Given the description of an element on the screen output the (x, y) to click on. 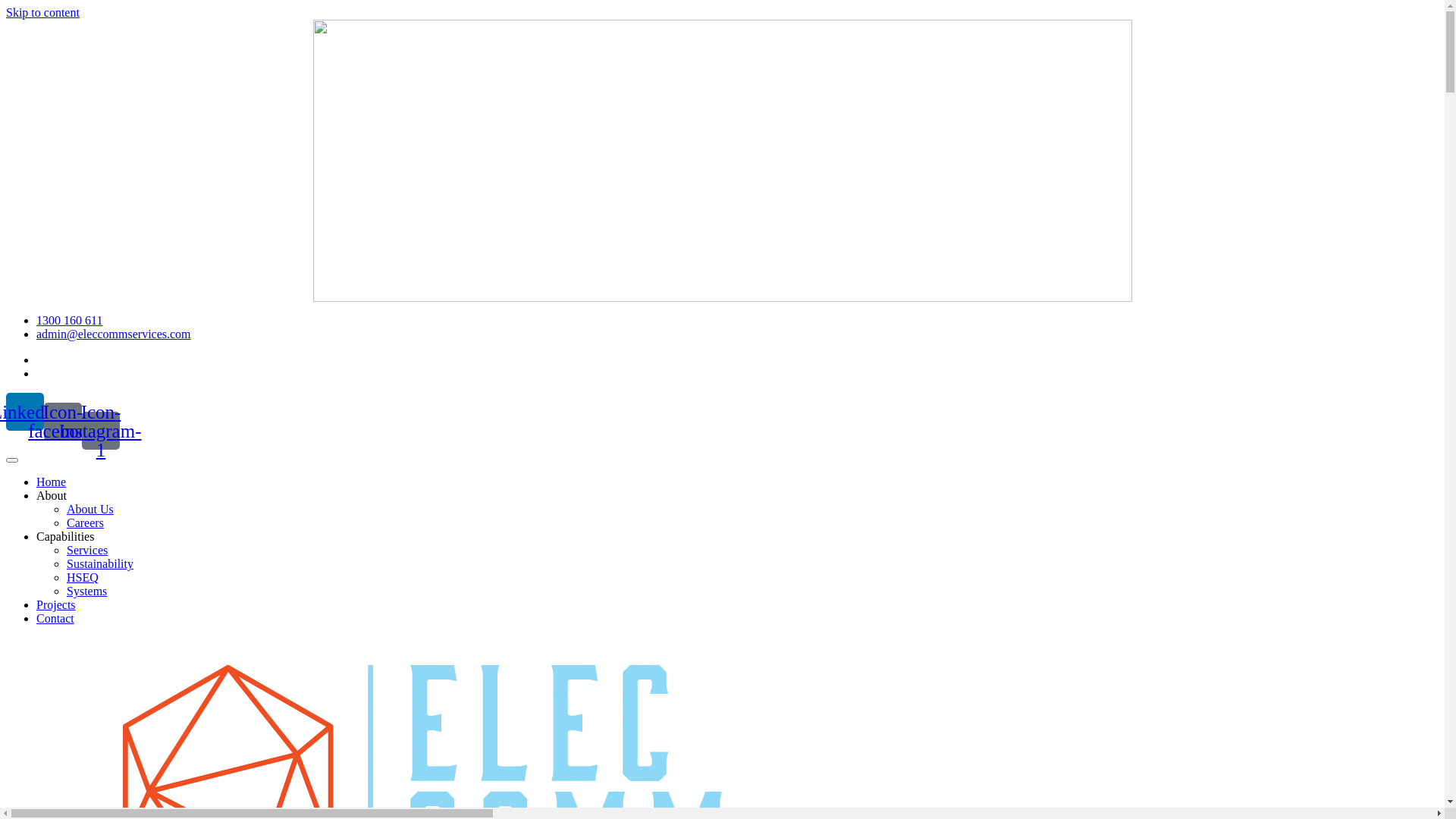
About Element type: text (51, 495)
Capabilities Element type: text (65, 536)
1300 160 611 Element type: text (69, 319)
admin@eleccommservices.com Element type: text (113, 333)
About Us Element type: text (89, 508)
Icon-instagram-1 Element type: text (100, 430)
Services Element type: text (86, 549)
Home Element type: text (50, 481)
Skip to content Element type: text (42, 12)
Linkedin Element type: text (24, 411)
Contact Element type: text (55, 617)
Projects Element type: text (55, 604)
HSEQ Element type: text (82, 577)
Icon-facebook Element type: text (62, 420)
Careers Element type: text (84, 522)
Systems Element type: text (86, 590)
Sustainability Element type: text (99, 563)
